Given the description of an element on the screen output the (x, y) to click on. 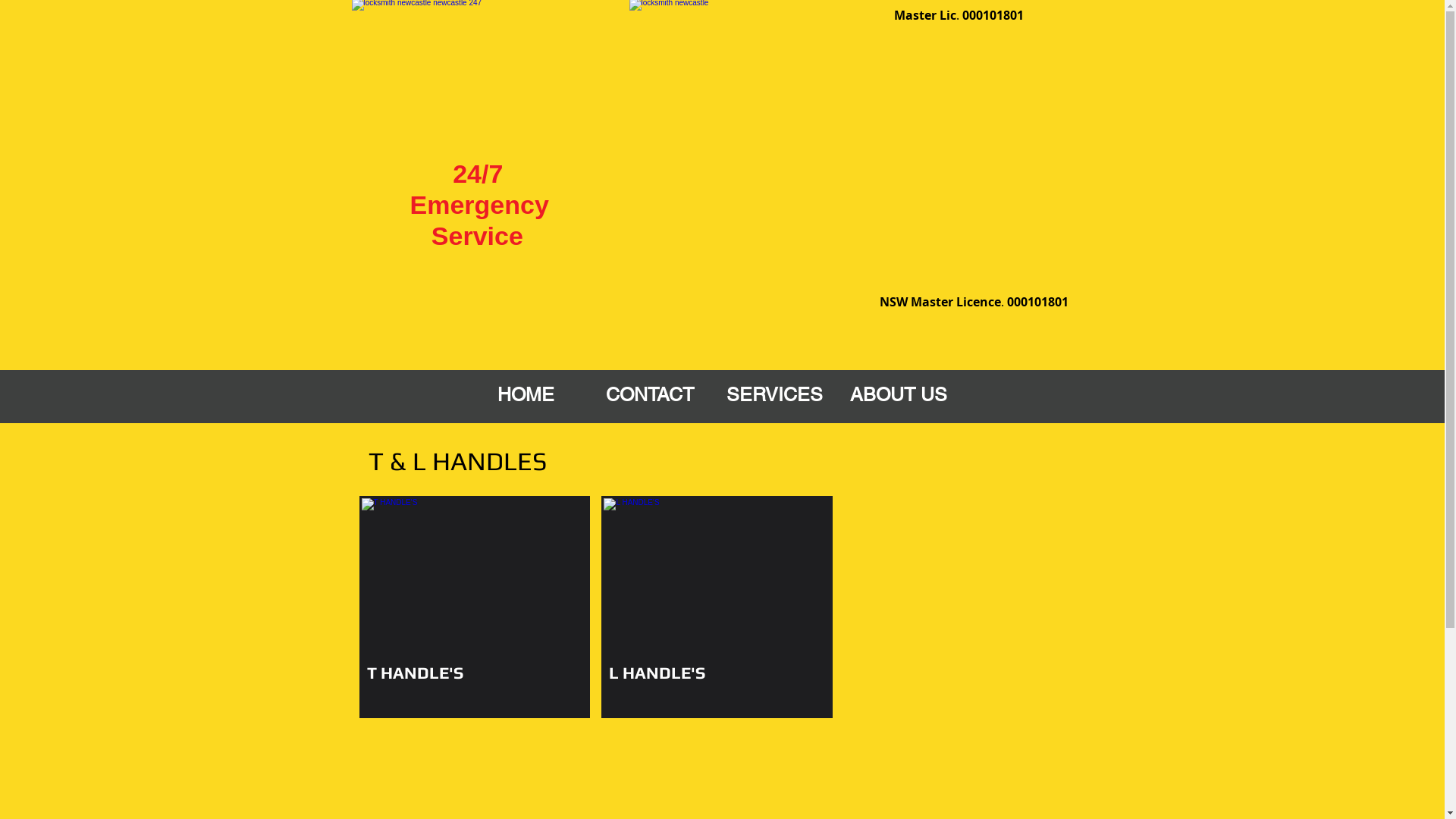
L HANDLE'S Element type: text (716, 606)
T HANDLE'S Element type: text (474, 606)
SERVICES Element type: text (774, 394)
HOME Element type: text (525, 394)
ABOUT US Element type: text (898, 394)
CONTACT Element type: text (649, 394)
